Given the description of an element on the screen output the (x, y) to click on. 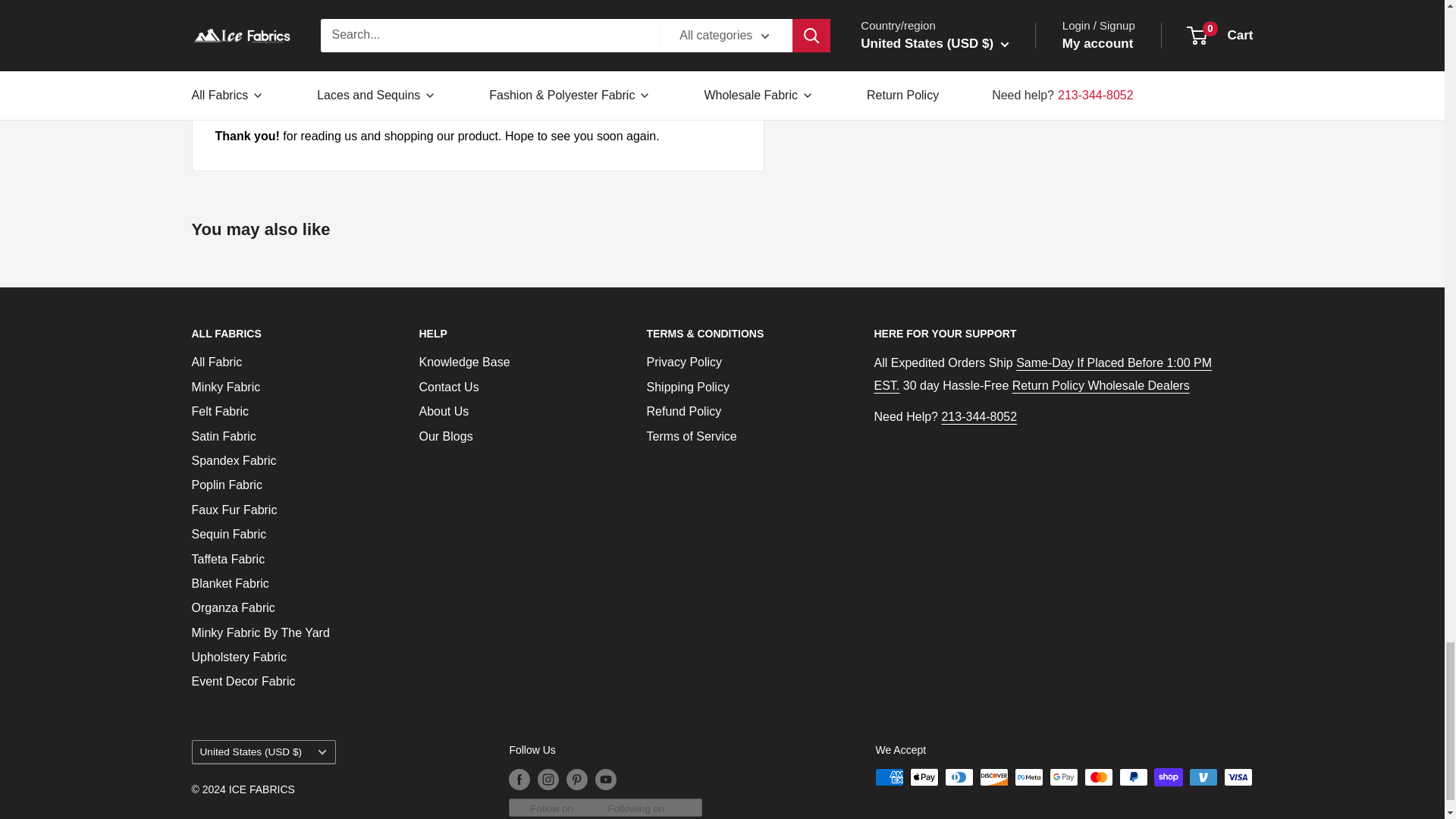
SHIPPING POLICY (1042, 374)
Returns policy (1049, 385)
tel:2133448052 (978, 416)
Facebook - IceFabrics (403, 104)
Instagram - IceFabrics (403, 73)
